Given the description of an element on the screen output the (x, y) to click on. 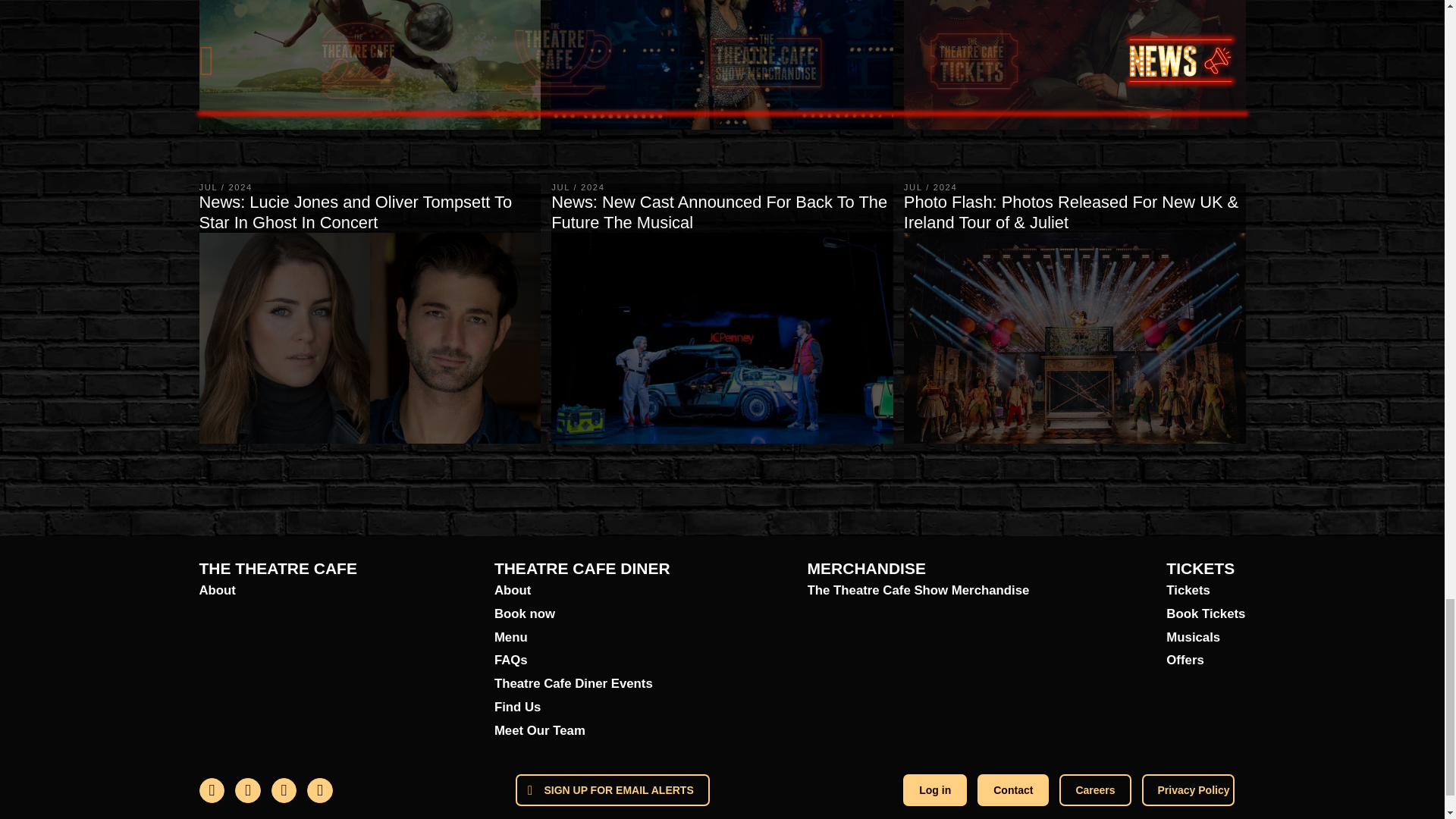
Book now (582, 614)
About (277, 590)
About (582, 590)
Tickets (1205, 590)
The Theatre Cafe Show Merchandise (918, 590)
THE THEATRE CAFE (277, 568)
Theatre Cafe Diner Events (582, 684)
Menu (582, 638)
Book Tickets (1205, 614)
FAQs (582, 660)
Meet Our Team (582, 730)
Find Us (582, 707)
